Given the description of an element on the screen output the (x, y) to click on. 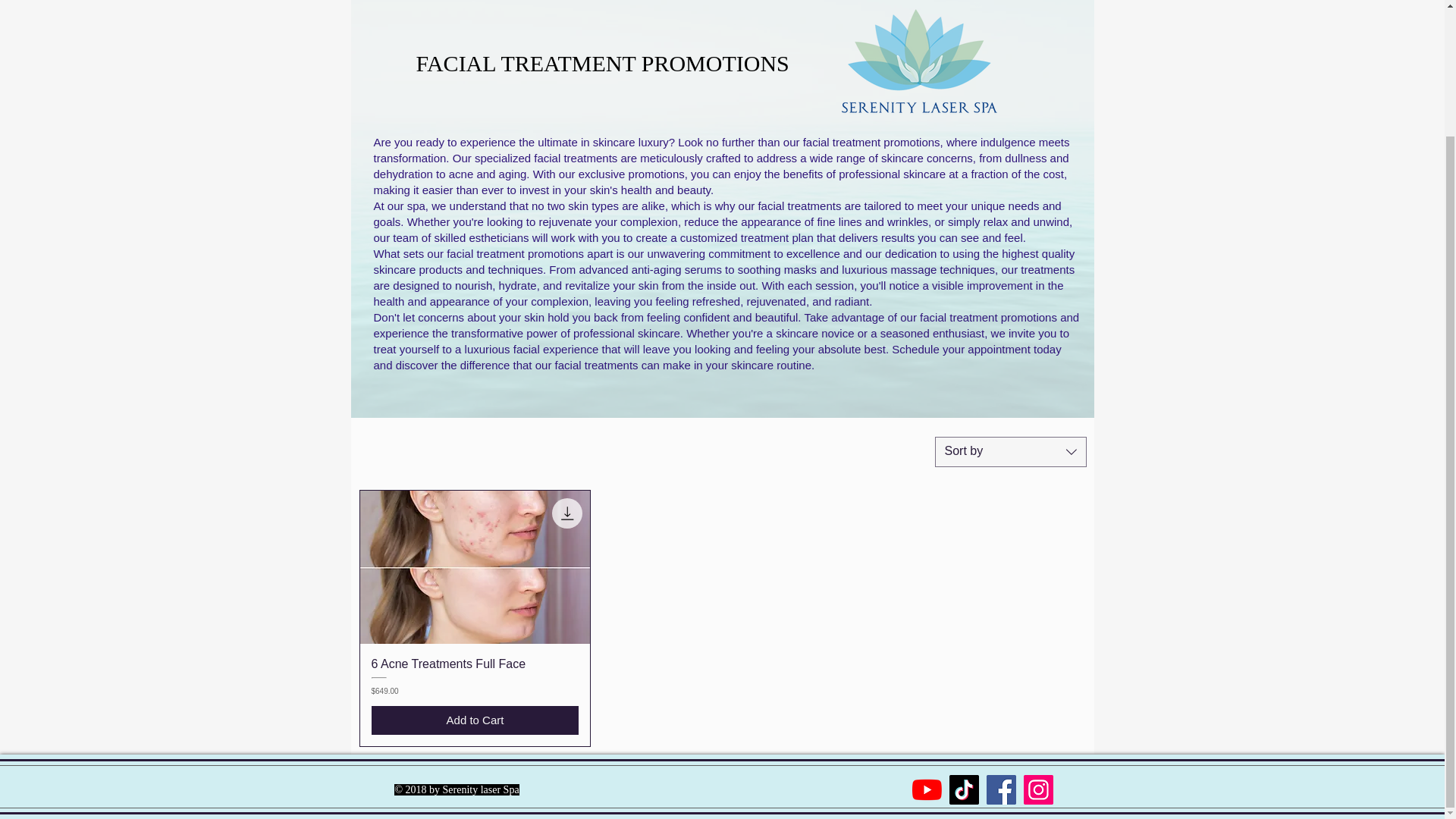
Sort by (1010, 451)
Add to Cart (475, 720)
